Given the description of an element on the screen output the (x, y) to click on. 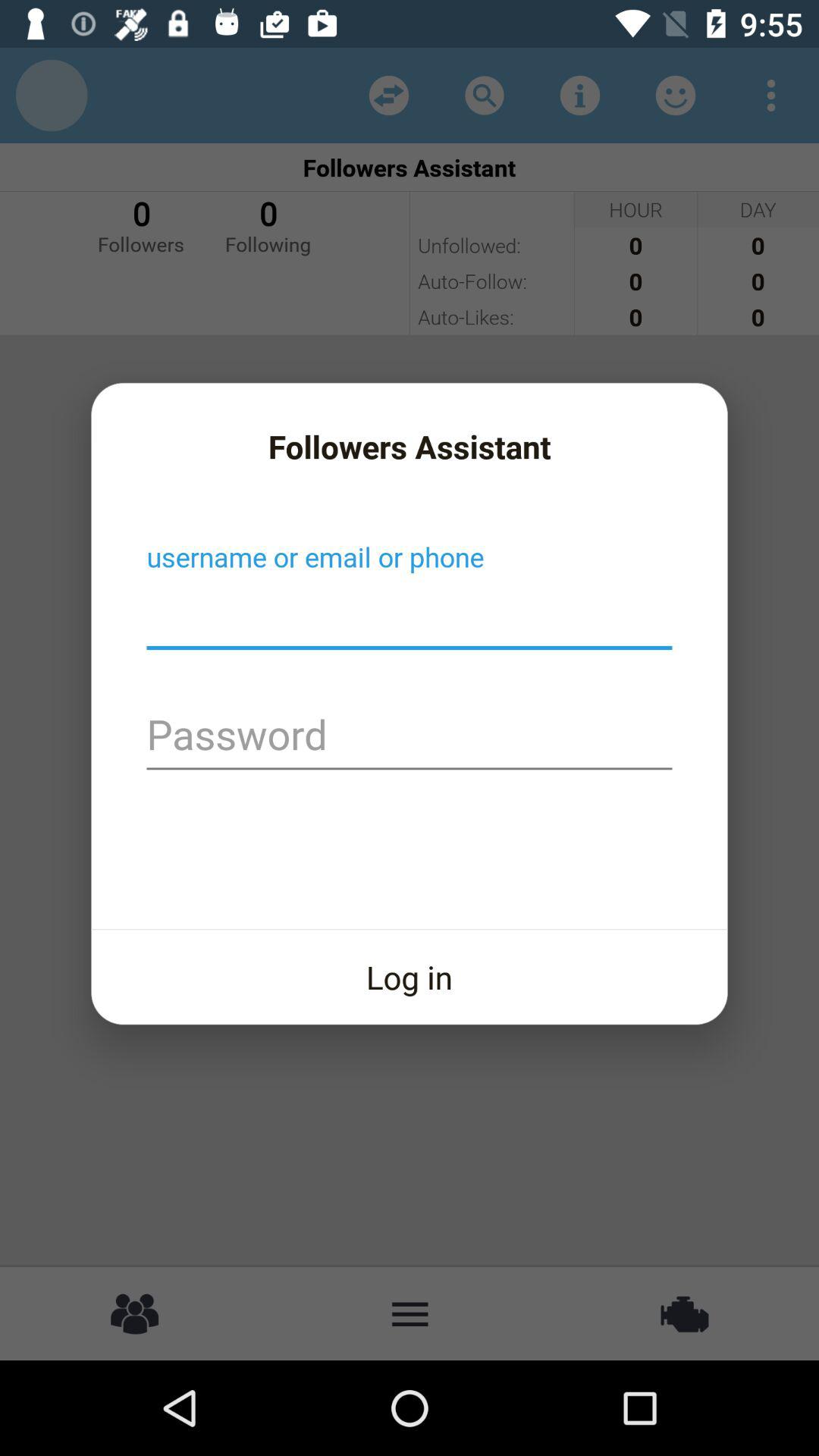
password (409, 736)
